Given the description of an element on the screen output the (x, y) to click on. 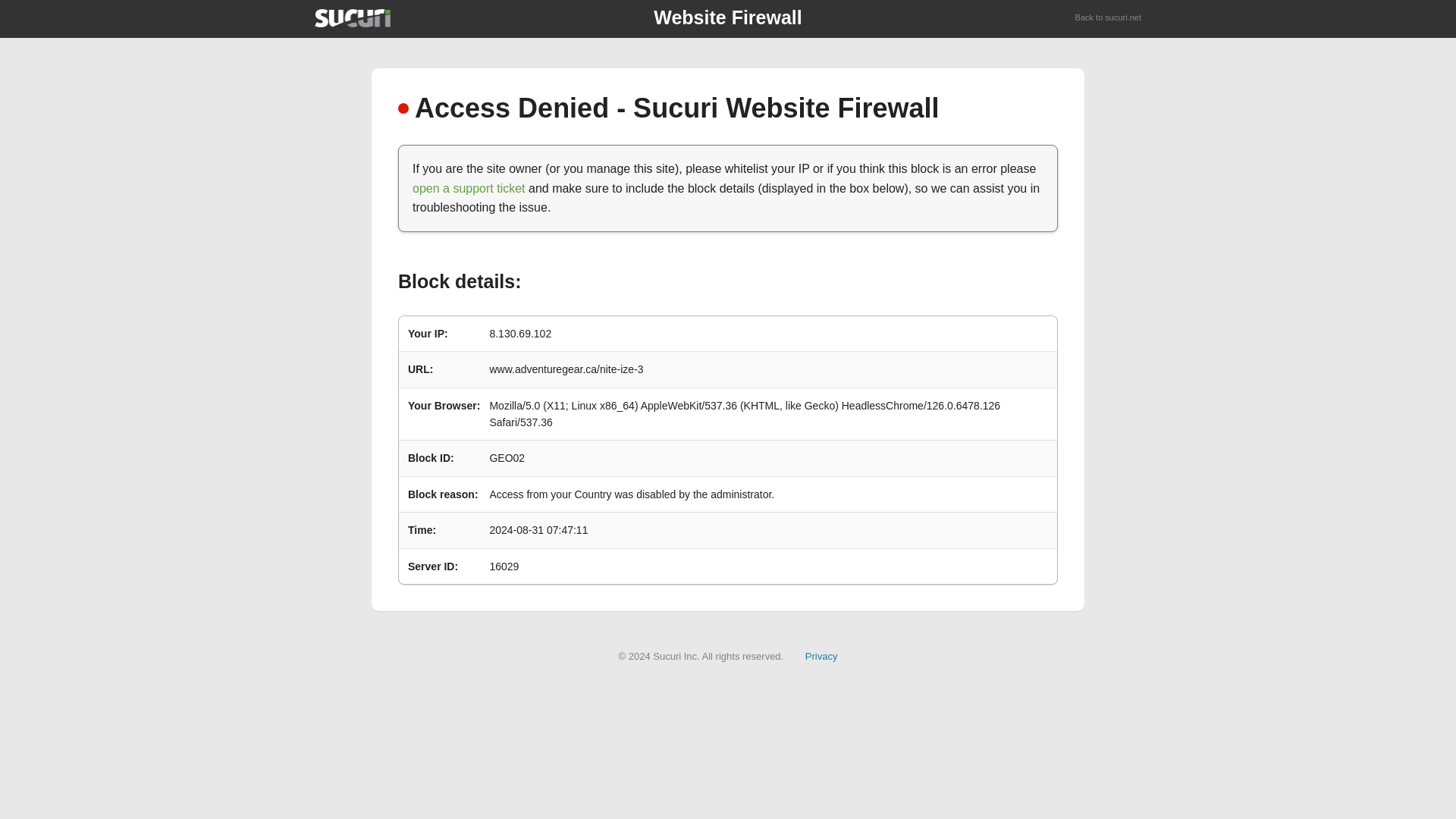
Back to sucuri.net (1108, 18)
Privacy (821, 655)
open a support ticket (468, 187)
